Given the description of an element on the screen output the (x, y) to click on. 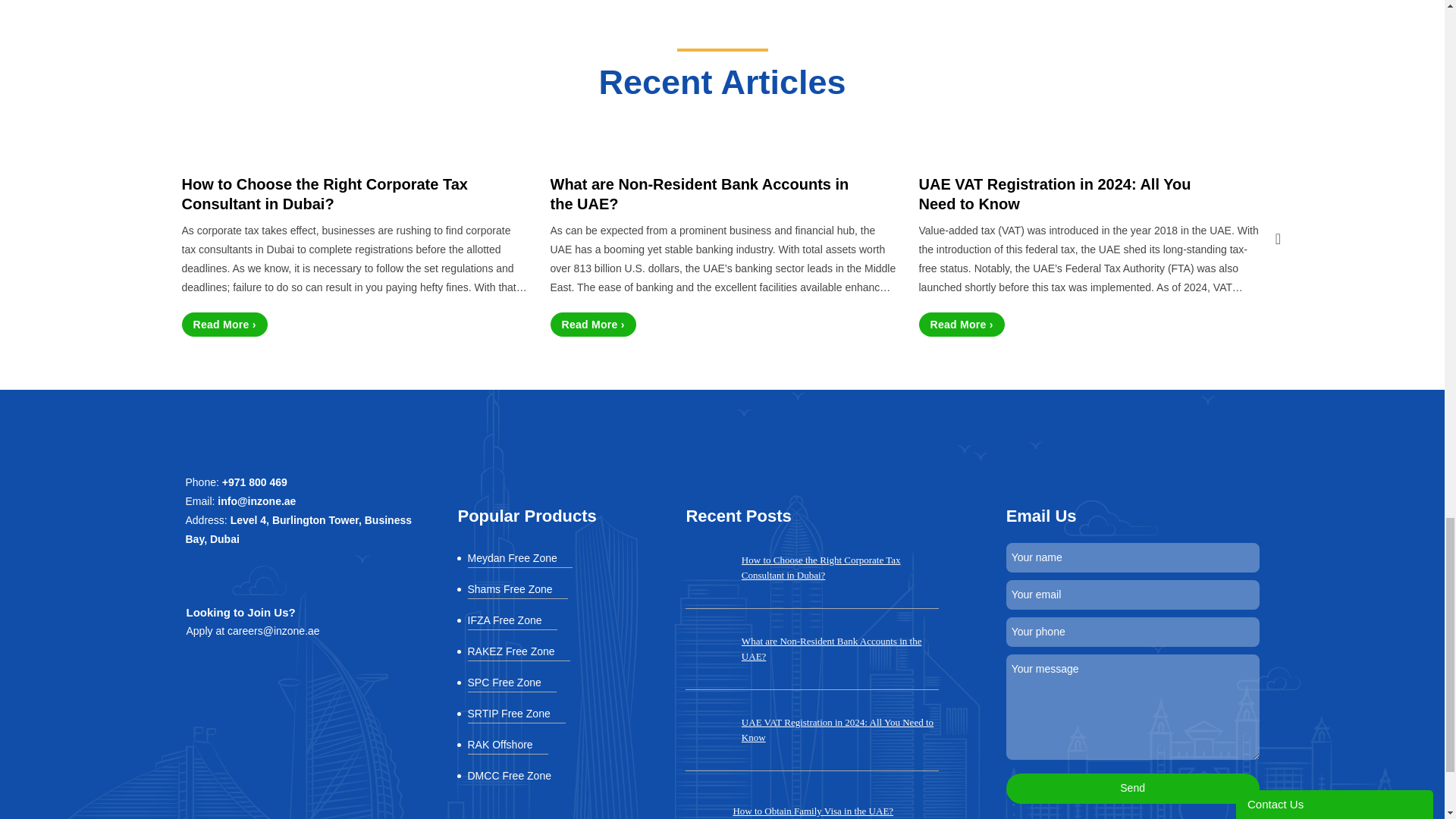
Send (1132, 788)
SRTIP Free Zone (515, 715)
What are Non-Resident Bank Accounts in the UAE? (701, 193)
RAK Free Zone (518, 652)
DMCC Free Zone (516, 776)
IFZA Free Zone (511, 621)
Meydan Free Zone (519, 560)
SPC Free Zone (511, 684)
RAK offshore (507, 746)
Shama Free Zone (517, 590)
UAE VAT Registration in 2024: All You Need to Know (1070, 193)
How to Choose the Right Corporate Tax Consultant in Dubai? (333, 193)
